Given the description of an element on the screen output the (x, y) to click on. 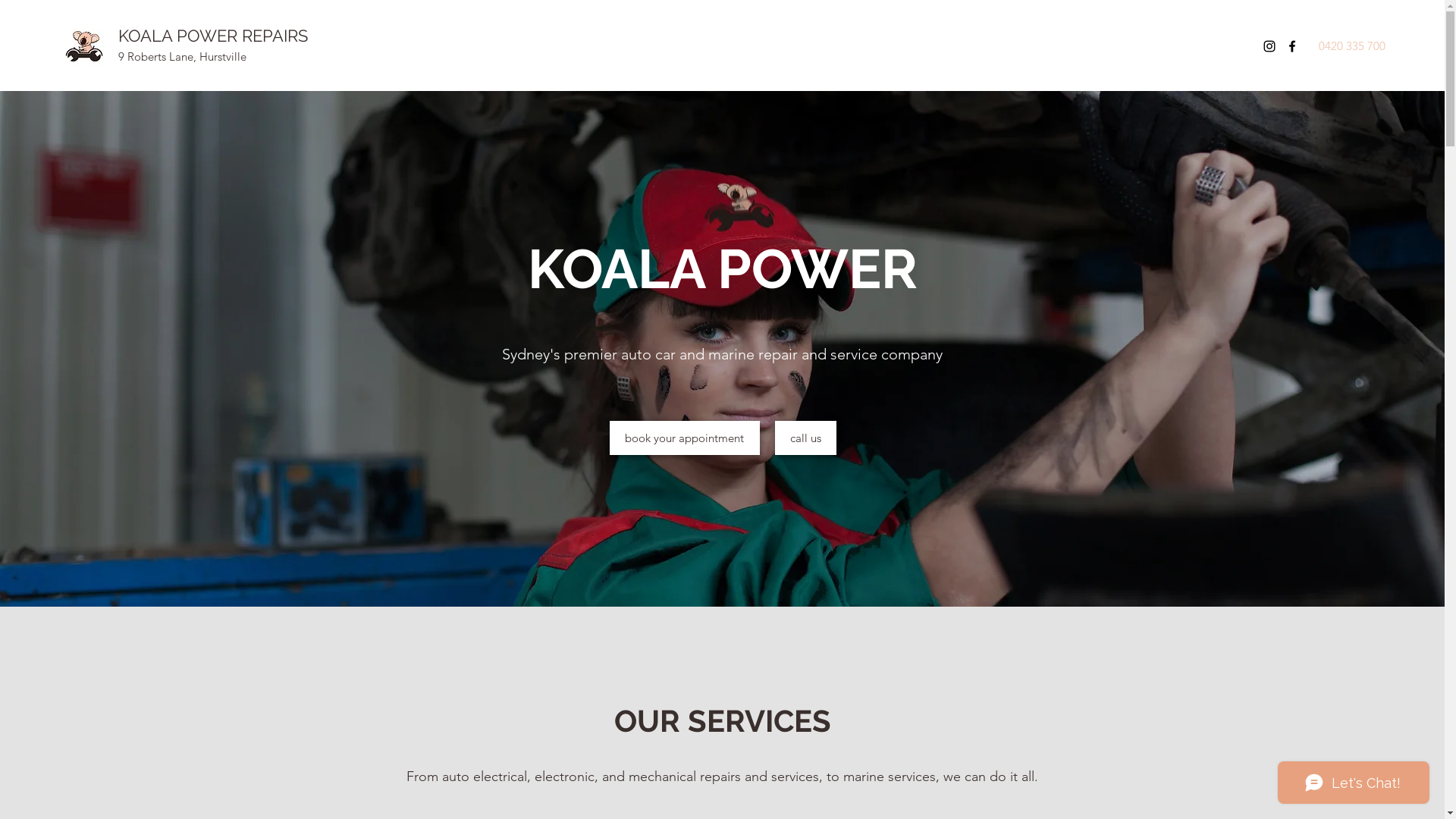
call us Element type: text (805, 437)
KOALA POWER REPAIRS Element type: text (212, 35)
0420 335 700 Element type: text (1351, 45)
book your appointment Element type: text (684, 437)
